Given the description of an element on the screen output the (x, y) to click on. 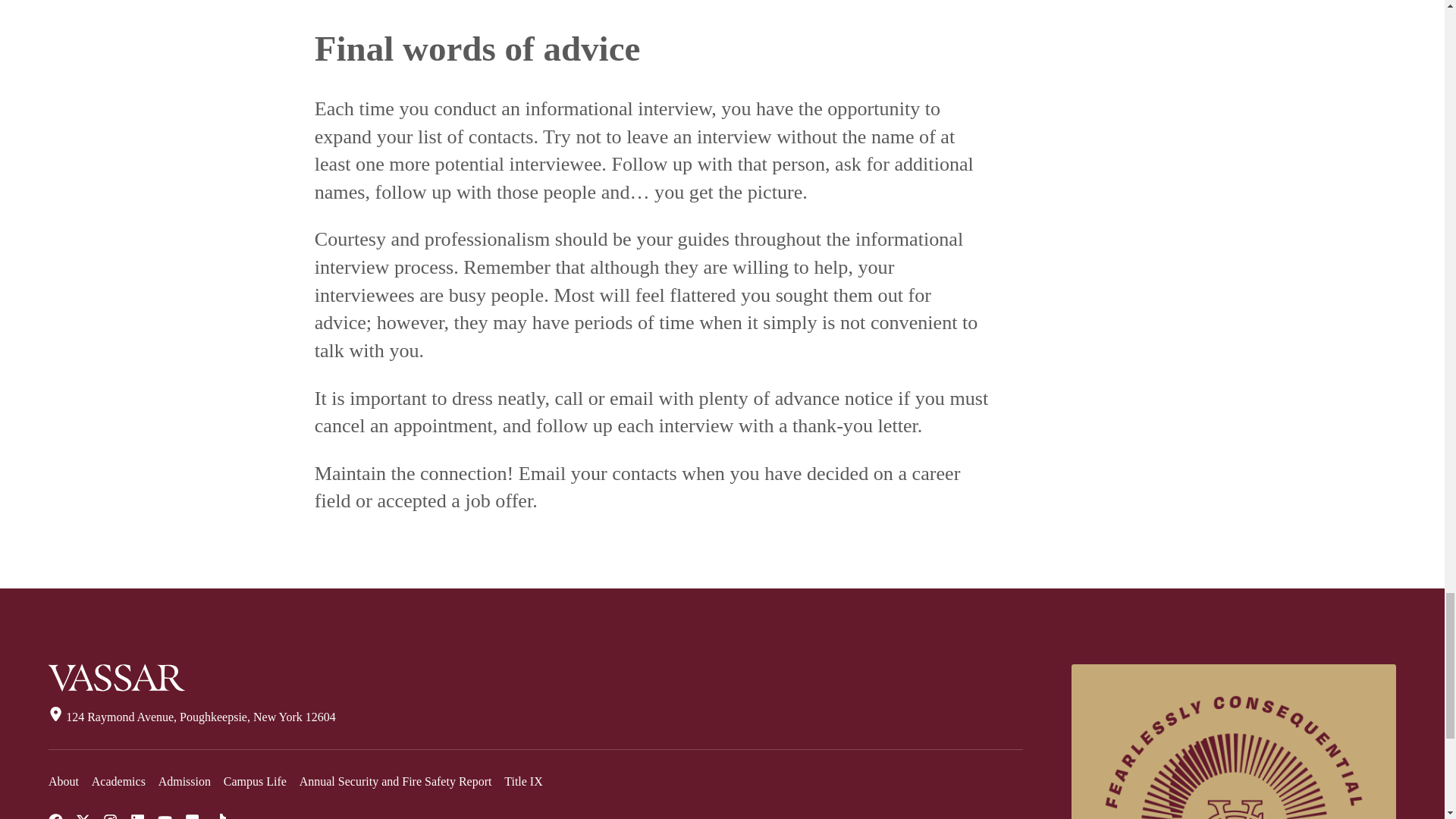
Vassar (116, 677)
